Given the description of an element on the screen output the (x, y) to click on. 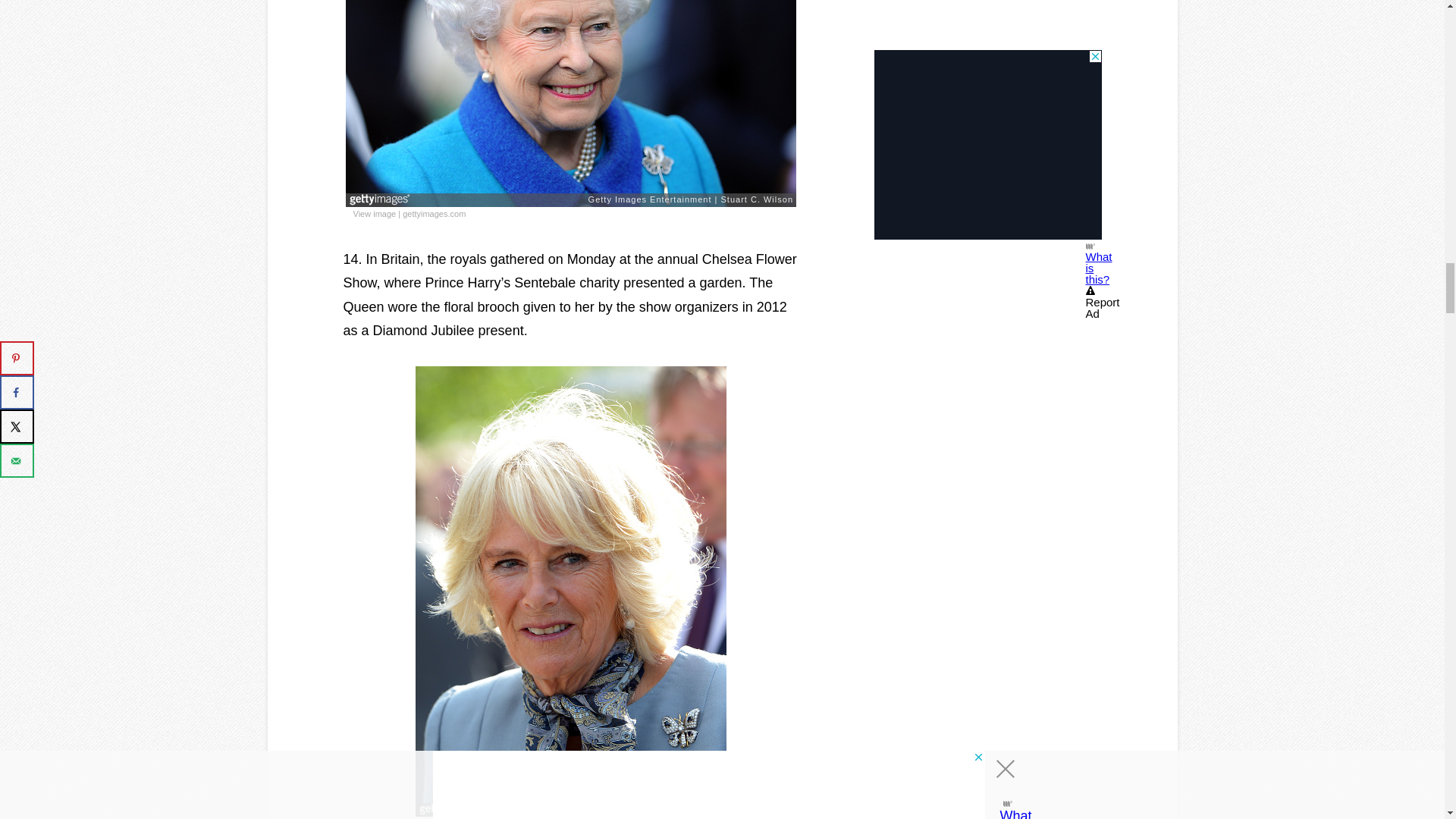
gettyimages.com (503, 817)
View image (444, 817)
View image (374, 214)
gettyimages.com (434, 214)
